Given the description of an element on the screen output the (x, y) to click on. 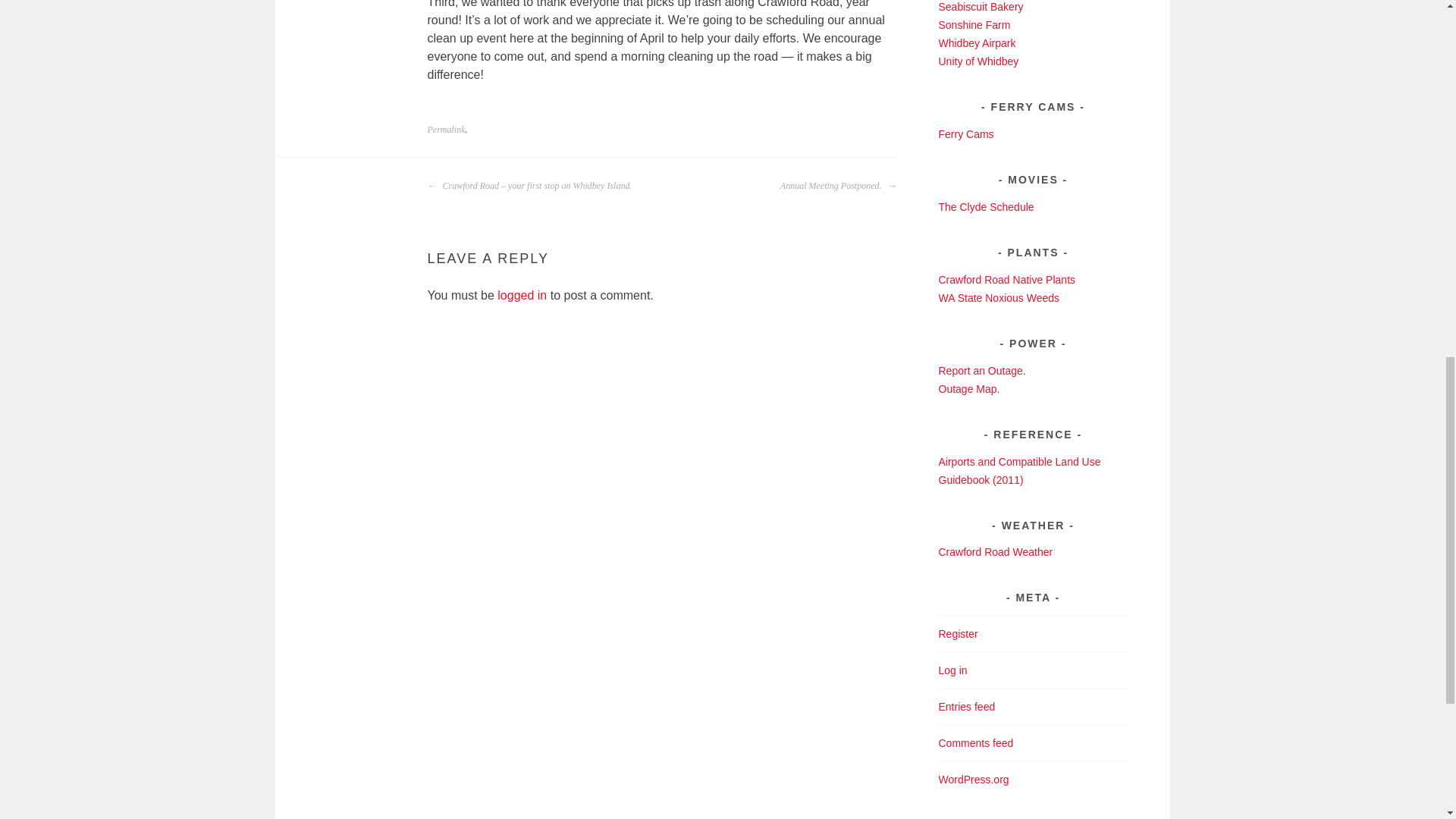
Unity of Whidbey (979, 61)
The Clyde Schedule (986, 206)
logged in (522, 295)
Annual Meeting Postponed.  (838, 185)
Seabiscuit Bakery (981, 6)
Ferry Cams (966, 133)
Whidbey Airpark (977, 42)
Permalink (446, 129)
Sonshine Farm (974, 24)
